Given the description of an element on the screen output the (x, y) to click on. 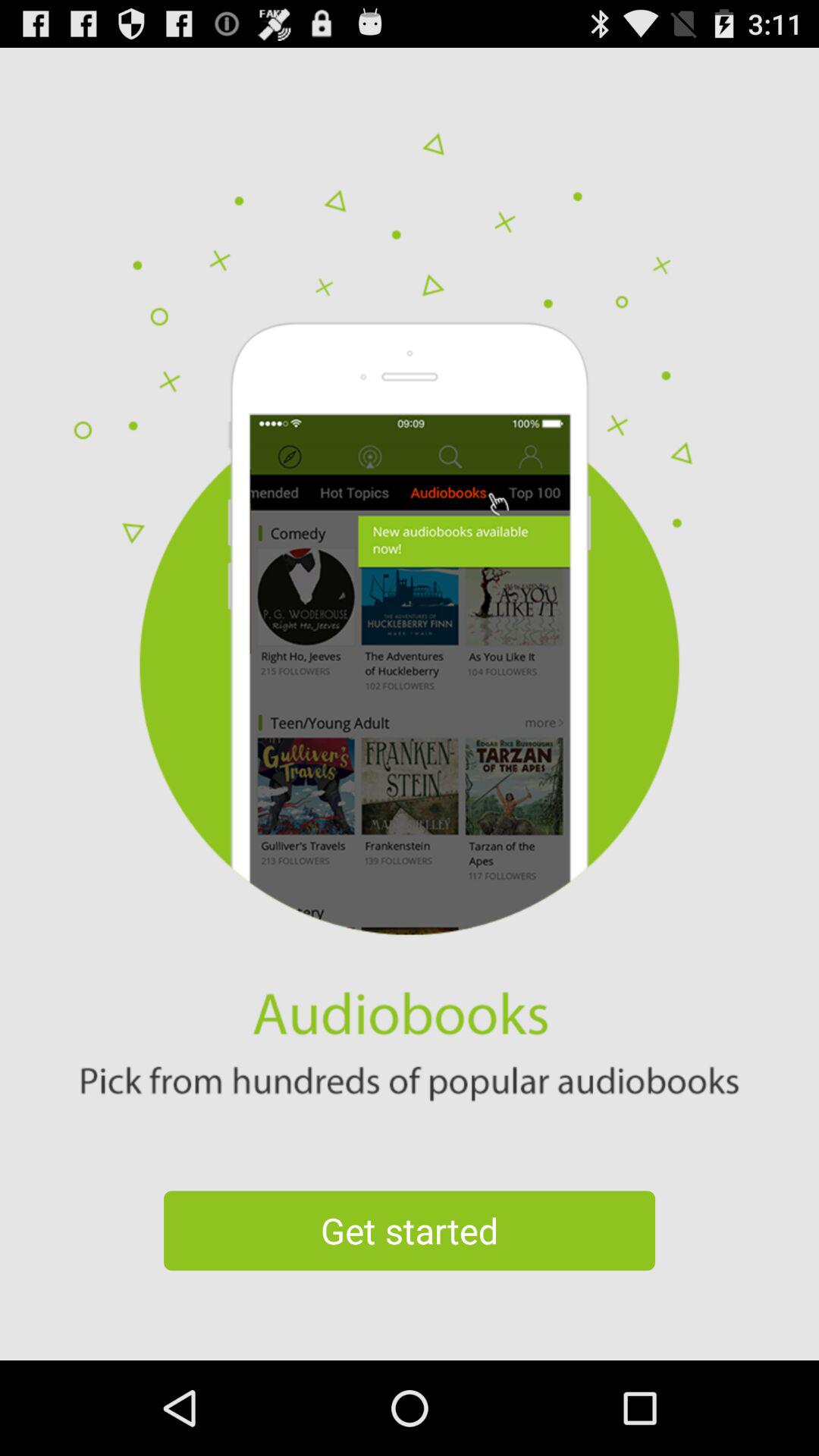
flip to get started icon (409, 1230)
